Given the description of an element on the screen output the (x, y) to click on. 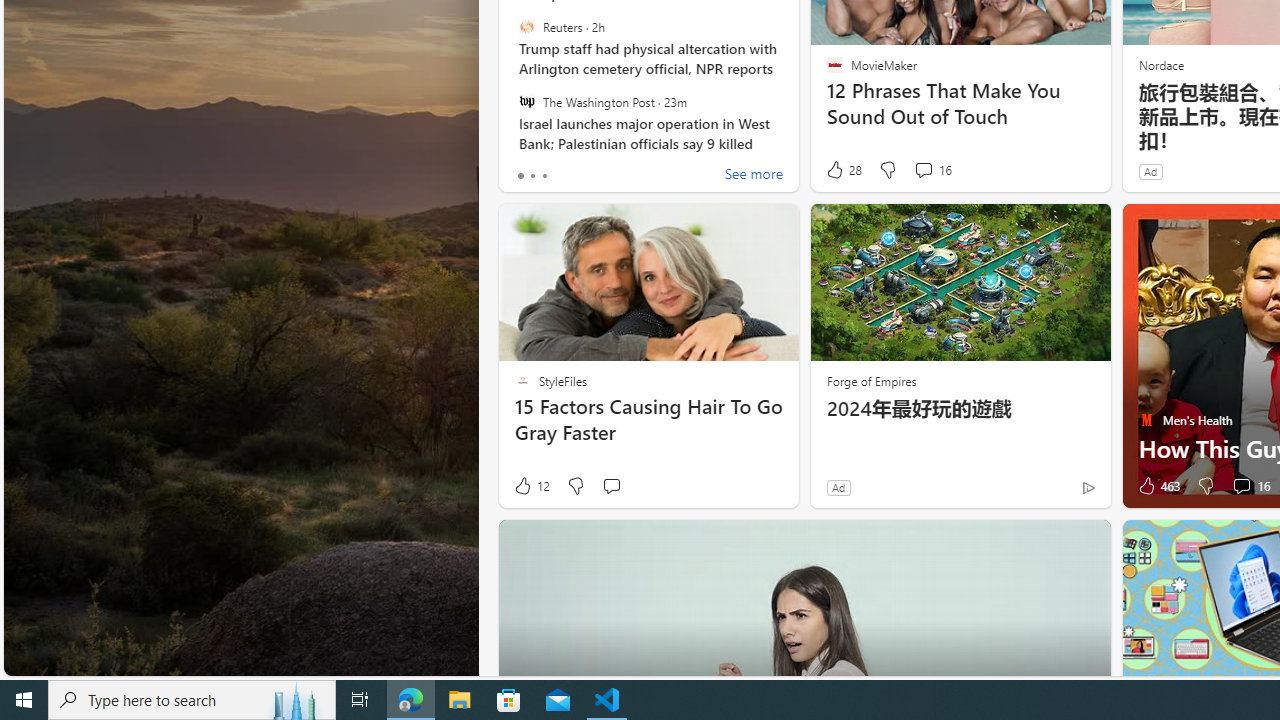
Forge of Empires (870, 380)
12 Like (531, 485)
Reuters (526, 27)
View comments 16 Comment (1241, 485)
View comments 16 Comment (1249, 485)
463 Like (1157, 485)
tab-2 (543, 175)
28 Like (843, 170)
